Given the description of an element on the screen output the (x, y) to click on. 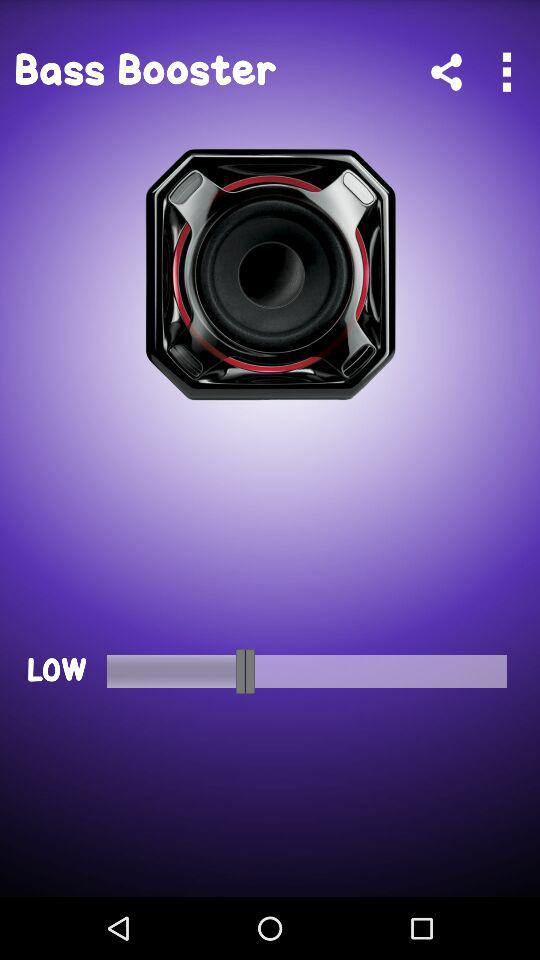
open options (506, 72)
